Given the description of an element on the screen output the (x, y) to click on. 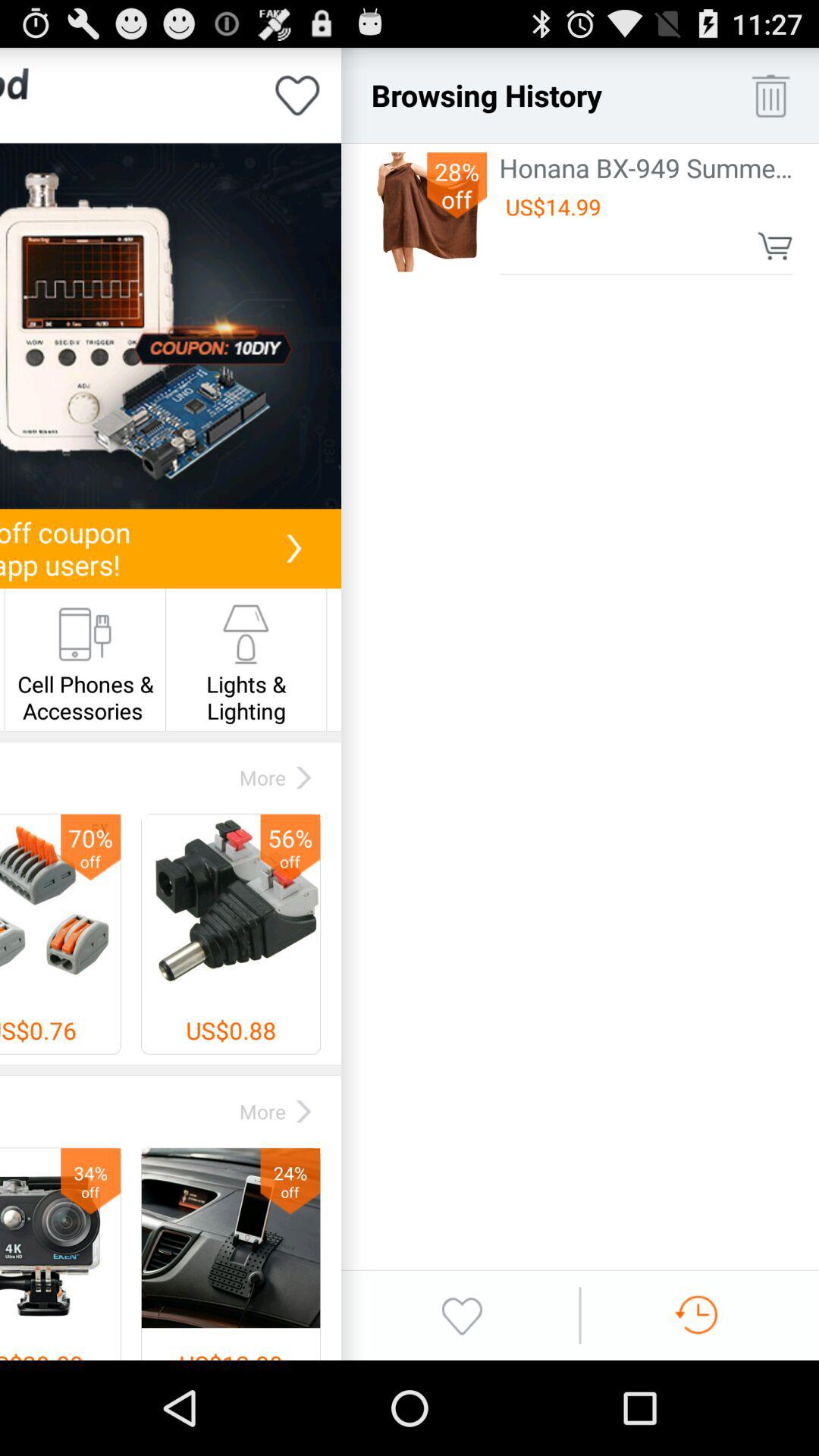
tap the item next to browsing history (770, 95)
